Given the description of an element on the screen output the (x, y) to click on. 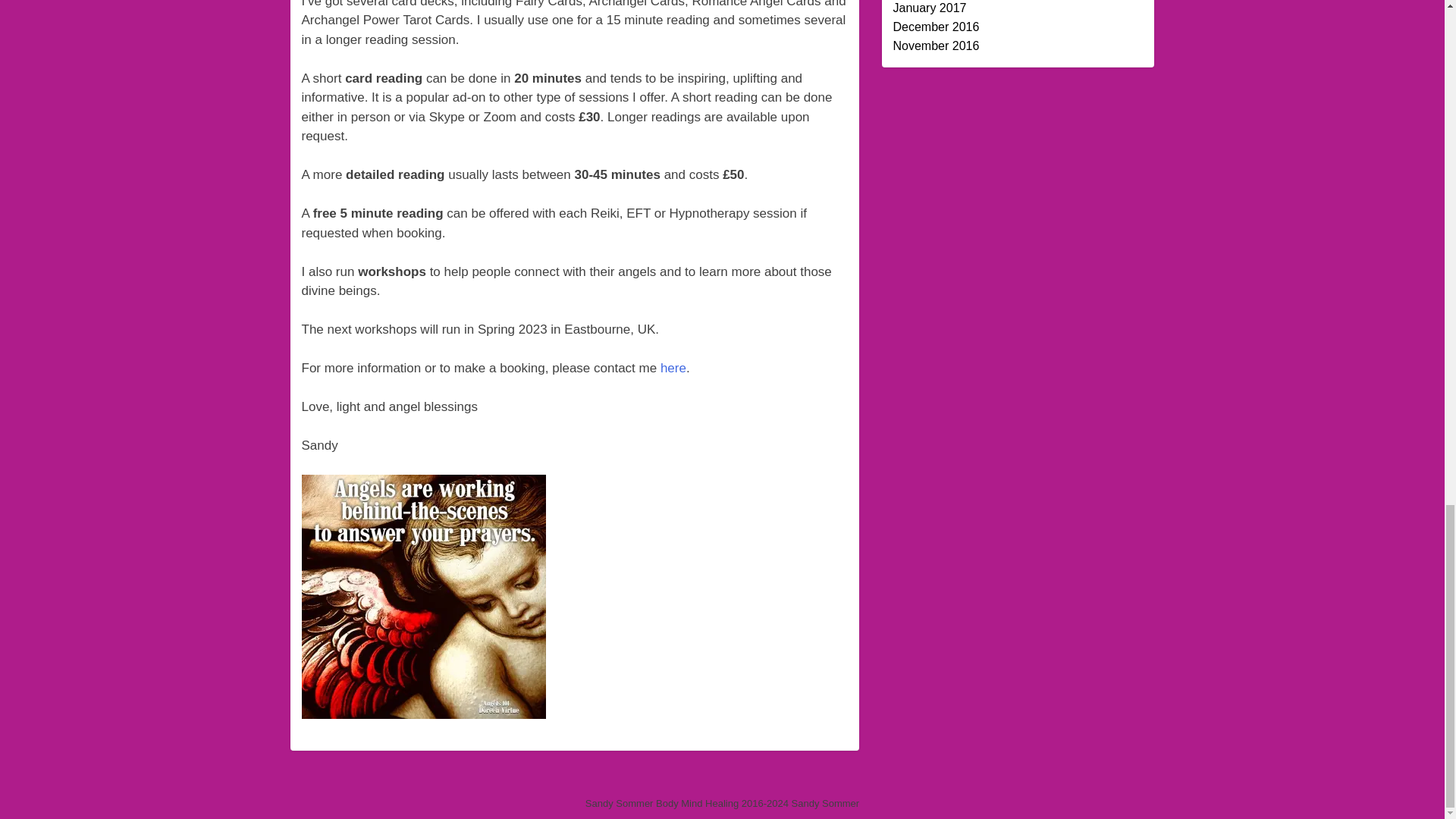
here (673, 368)
